Given the description of an element on the screen output the (x, y) to click on. 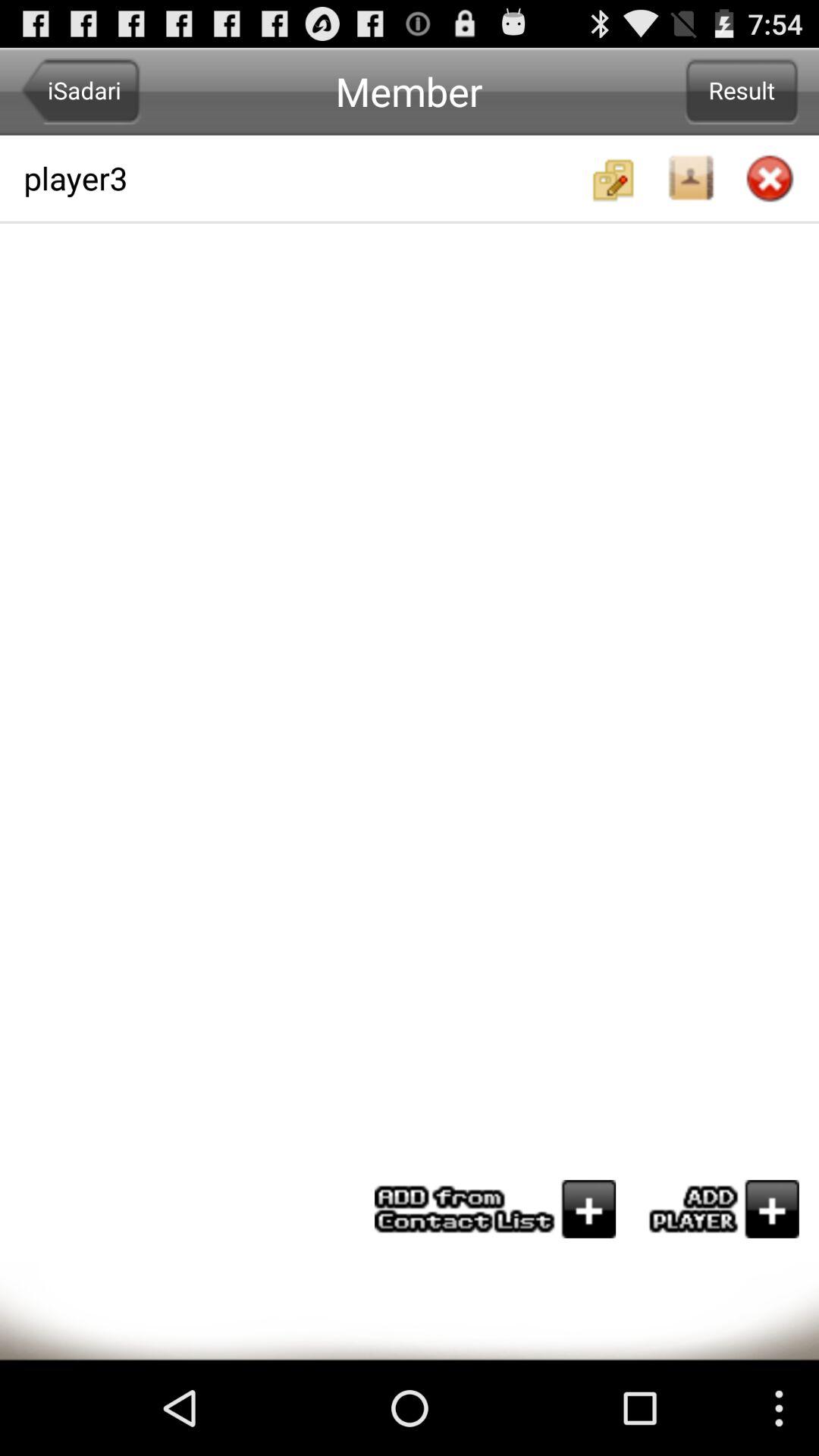
click app to the left of member icon (80, 91)
